Given the description of an element on the screen output the (x, y) to click on. 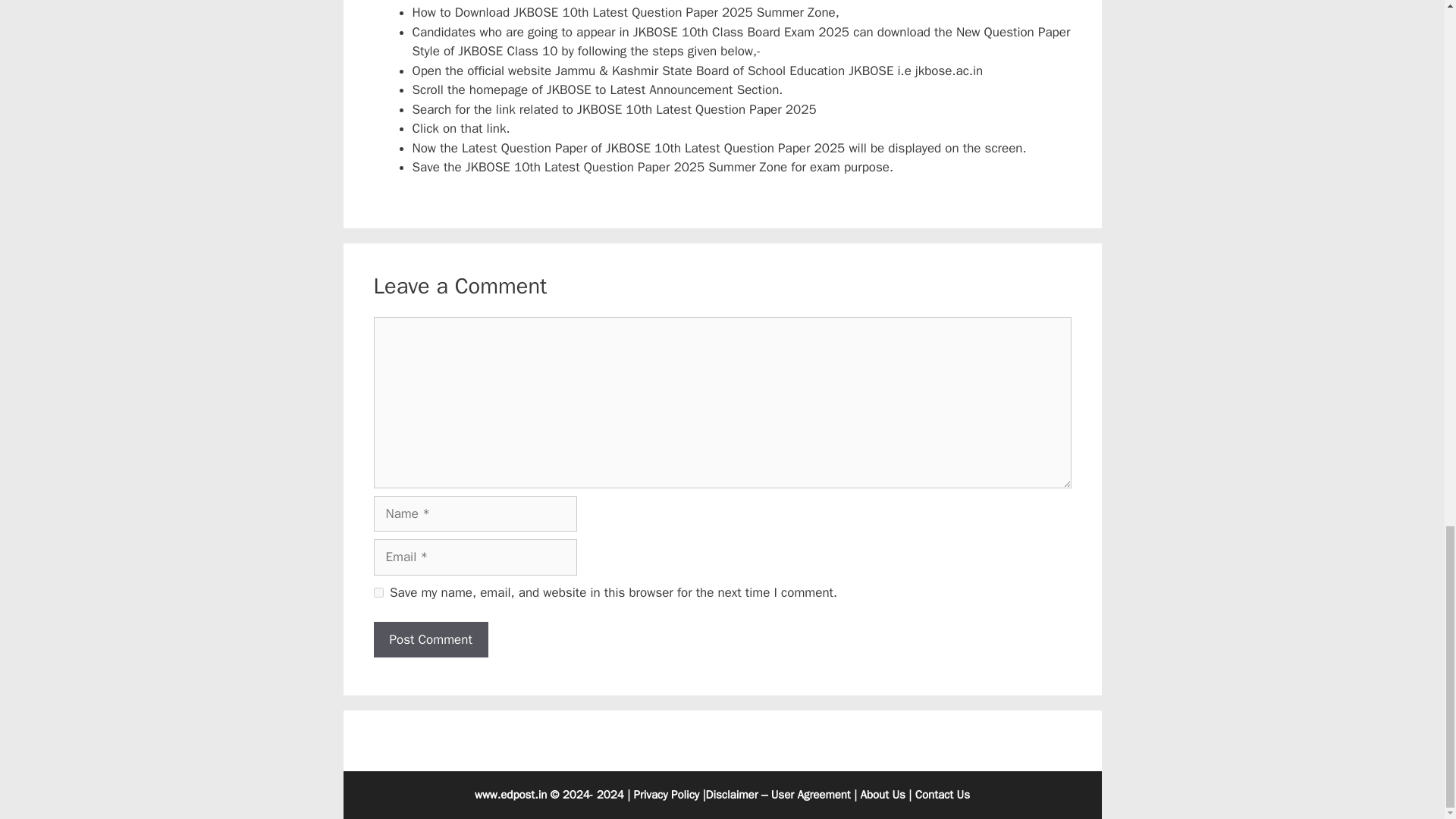
Contact Us (942, 794)
Post Comment (429, 639)
Post Comment (429, 639)
yes (377, 592)
Privacy Policy (666, 794)
About Us (882, 794)
